Given the description of an element on the screen output the (x, y) to click on. 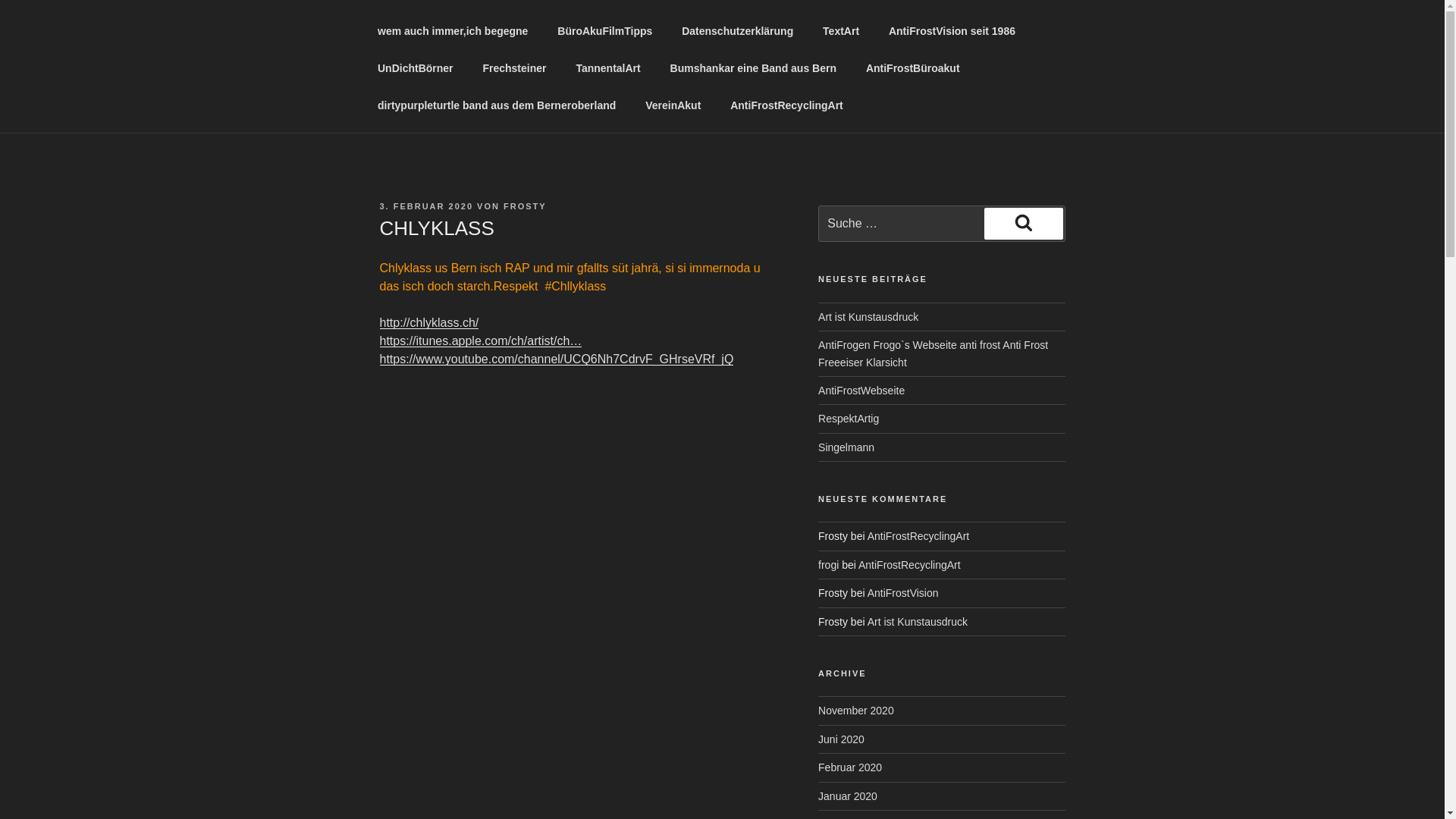
TextArt Element type: text (840, 31)
Bumshankar eine Band aus Bern Element type: text (752, 68)
AntiFrostRecyclingArt Element type: text (909, 564)
Januar 2020 Element type: text (847, 796)
Art ist Kunstausdruck Element type: text (917, 621)
Februar 2020 Element type: text (849, 767)
TannentalArt Element type: text (607, 68)
November 2020 Element type: text (856, 710)
AntiFrostVision seit 1986 Element type: text (951, 31)
https://www.youtube.com/channel/UCQ6Nh7CdrvF_GHrseVRf_jQ Element type: text (556, 358)
ANTIFROST Element type: text (555, 57)
Art ist Kunstausdruck Element type: text (868, 316)
AntiFrostVision Element type: text (902, 592)
frogi Element type: text (828, 564)
AntiFrostRecyclingArt Element type: text (918, 536)
3. FEBRUAR 2020 Element type: text (426, 205)
VereinAkut Element type: text (673, 105)
AntiFrostWebseite Element type: text (861, 390)
RespektArtig Element type: text (848, 418)
Singelmann Element type: text (846, 447)
dirtypurpleturtle band aus dem Berneroberland Element type: text (496, 105)
Suche Element type: text (1023, 223)
FROSTY Element type: text (524, 205)
AntiFrostRecyclingArt Element type: text (786, 105)
wem auch immer,ich begegne Element type: text (452, 31)
Frechsteiner Element type: text (514, 68)
http://chlyklass.ch/ Element type: text (428, 322)
Juni 2020 Element type: text (841, 739)
